Given the description of an element on the screen output the (x, y) to click on. 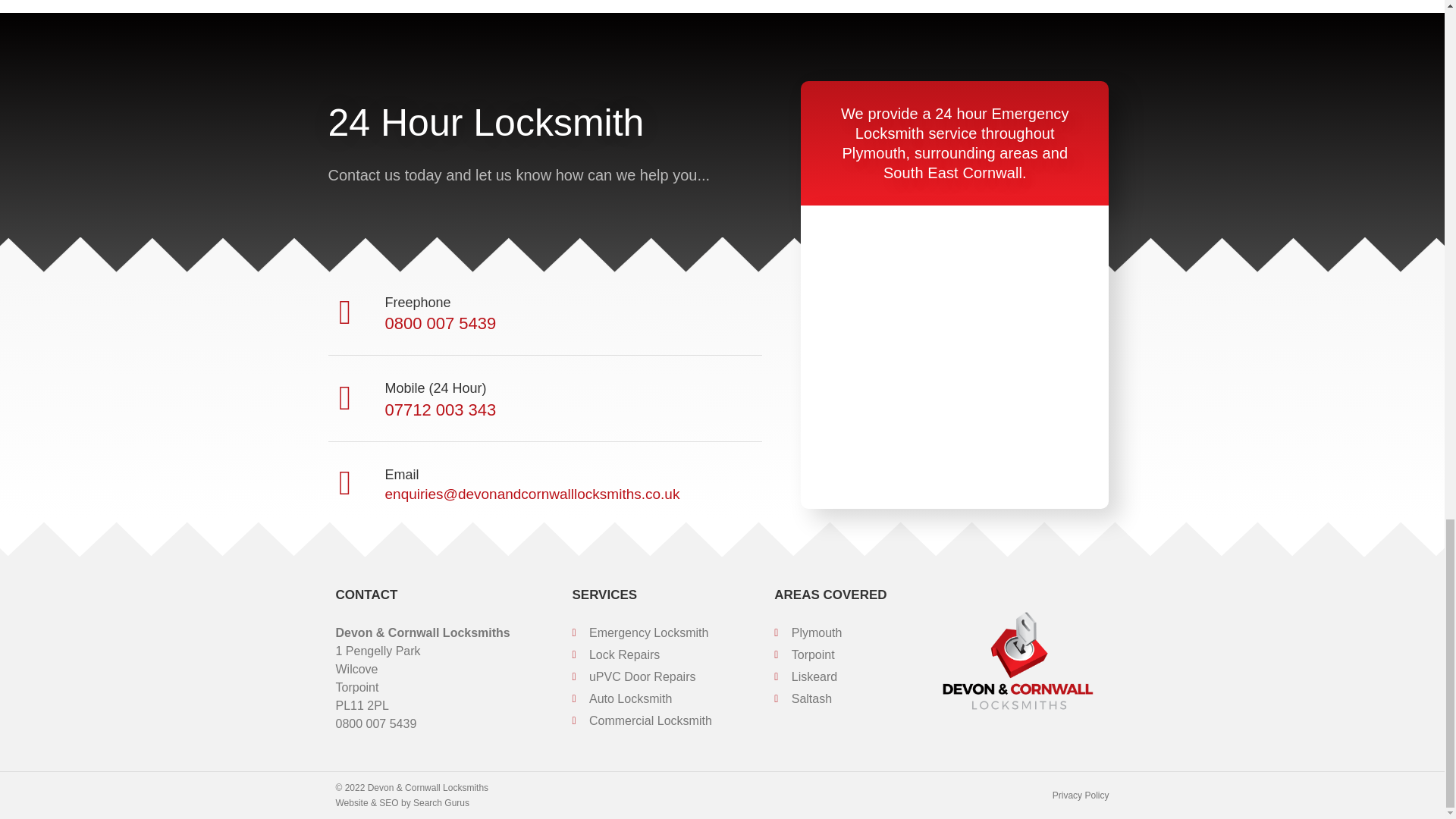
1 Pengelly Park, Wilcove, Torpoint, PL11 2PL (954, 356)
